Given the description of an element on the screen output the (x, y) to click on. 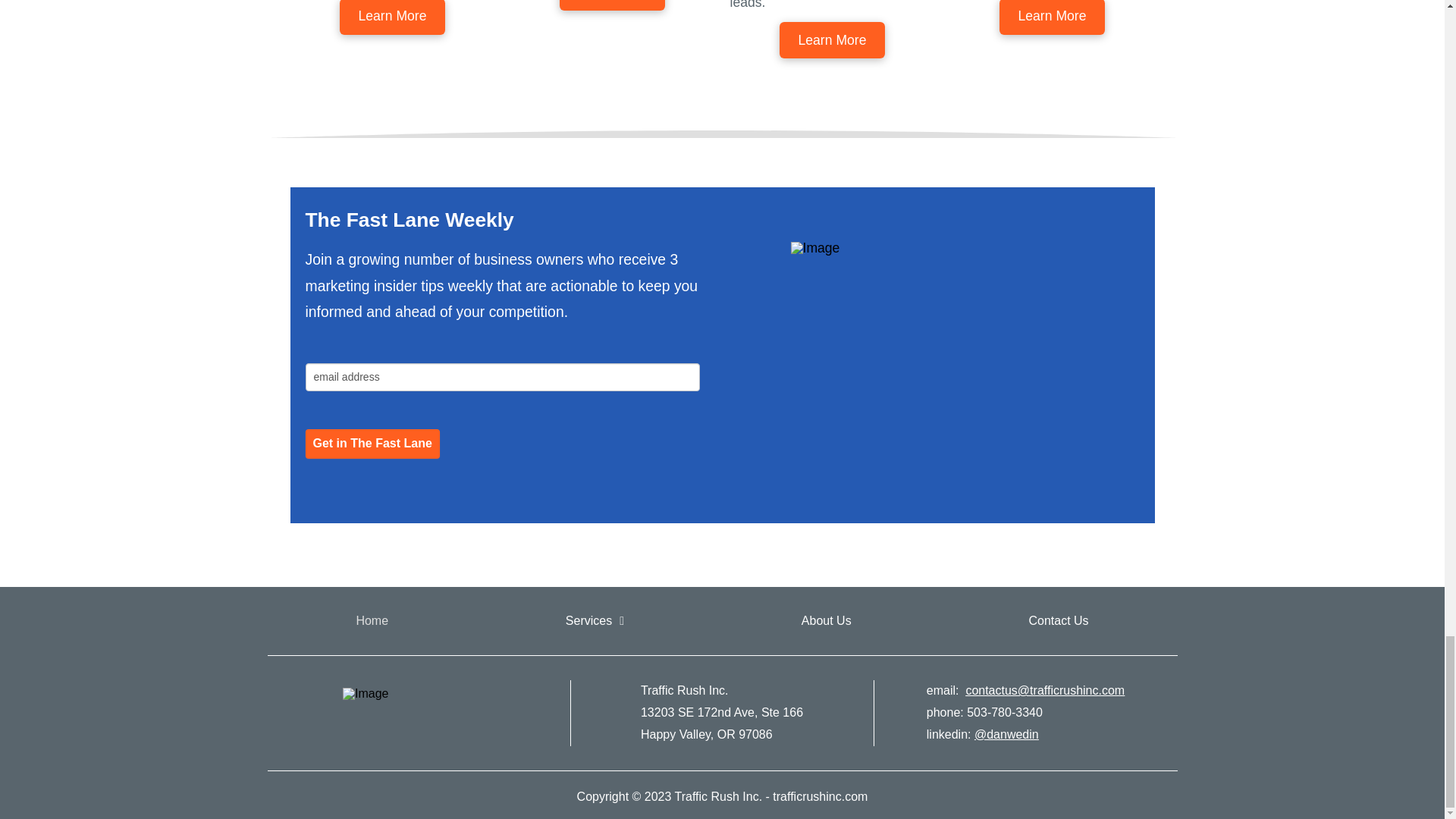
Services (595, 620)
About Us (826, 620)
Contact Us (1057, 620)
Get in The Fast Lane (371, 443)
Learn More (392, 17)
Learn More (831, 40)
Home (371, 620)
email address (501, 377)
Learn More (1051, 17)
Learn More (612, 5)
